Given the description of an element on the screen output the (x, y) to click on. 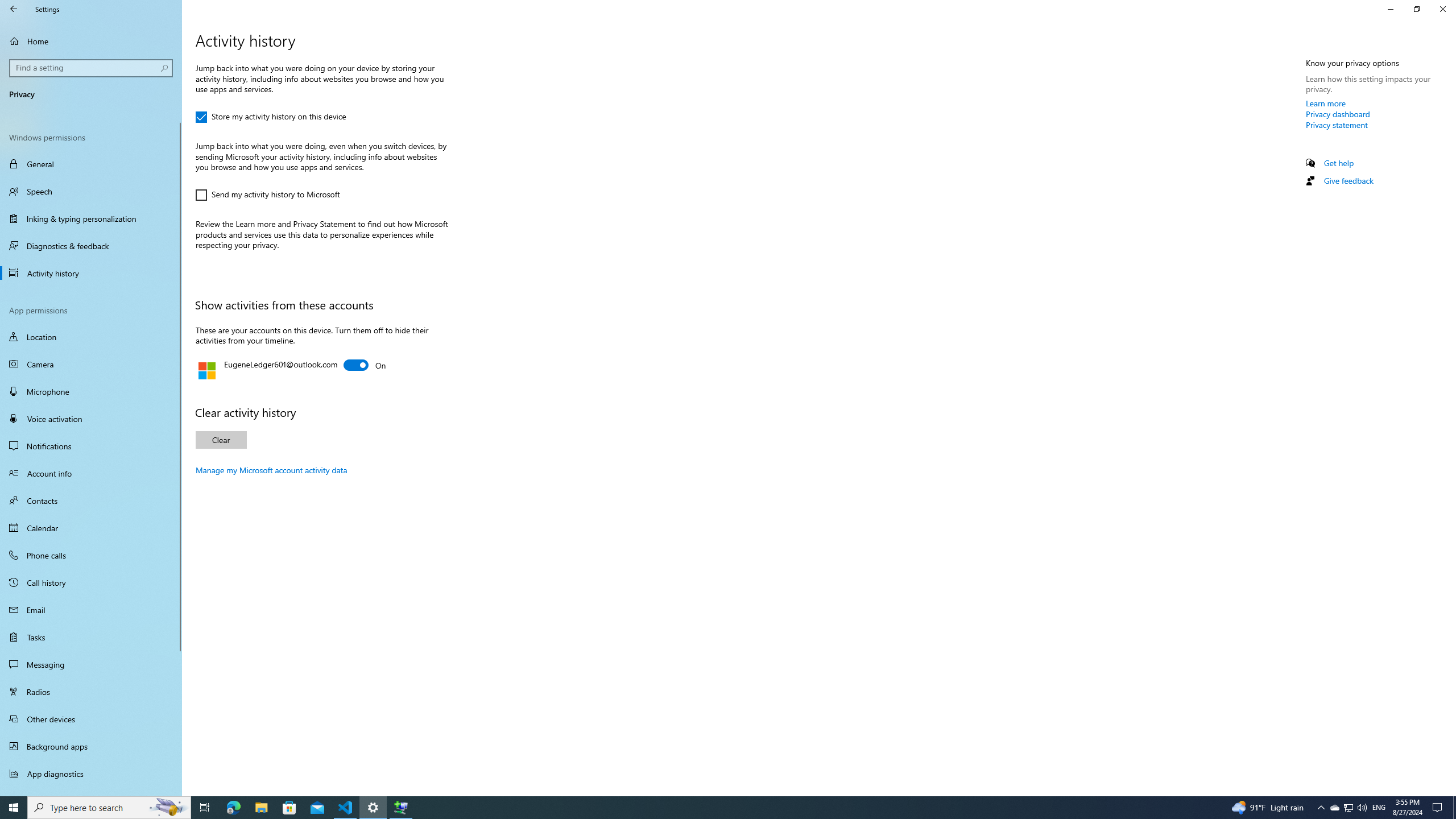
Activity history (91, 272)
Camera (91, 363)
Contacts (91, 500)
Send my activity history to Microsoft (267, 194)
Background apps (91, 746)
